Given the description of an element on the screen output the (x, y) to click on. 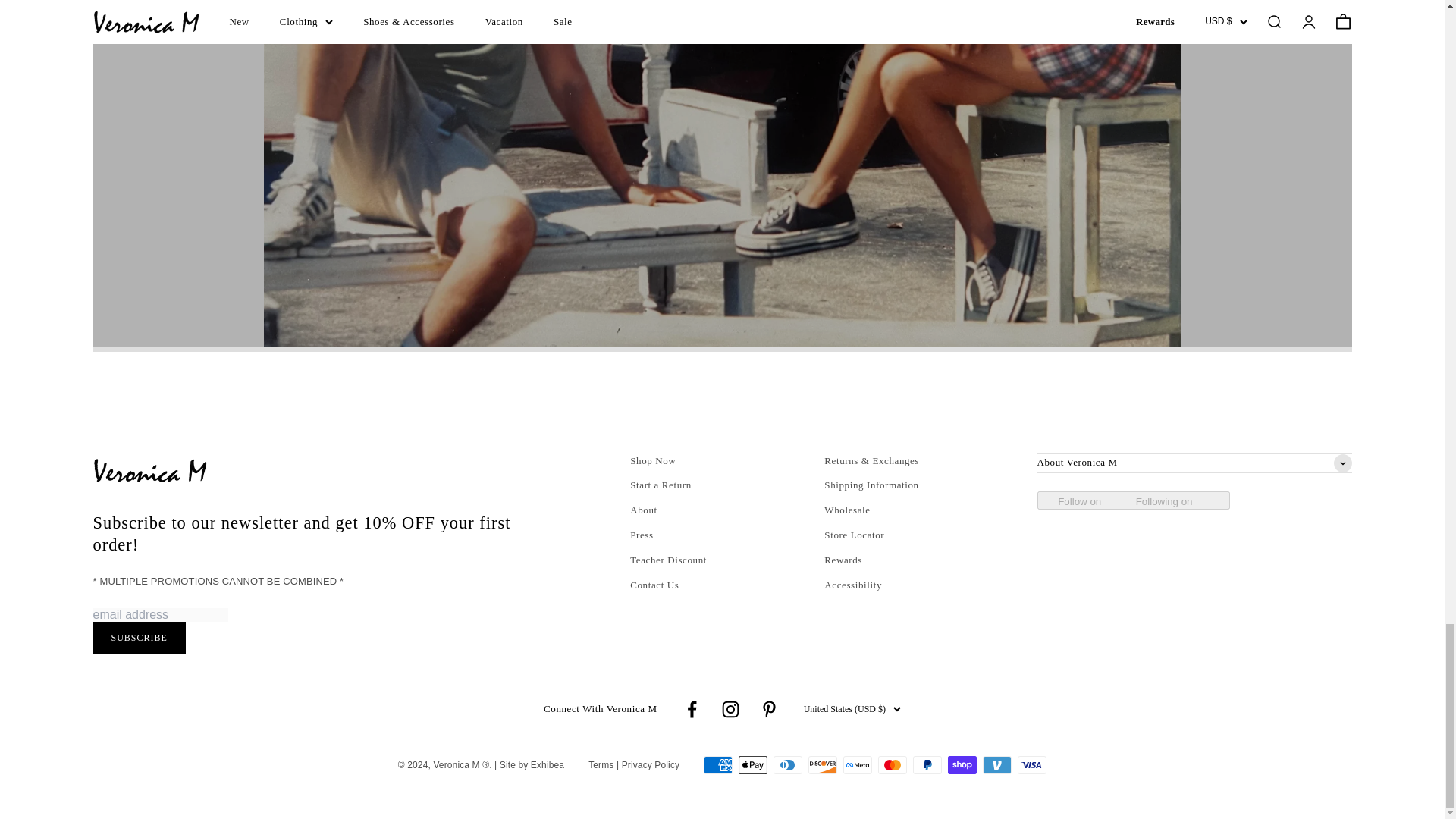
Exhibea Shopify Plus Agency (531, 765)
Subscribe (138, 637)
